Given the description of an element on the screen output the (x, y) to click on. 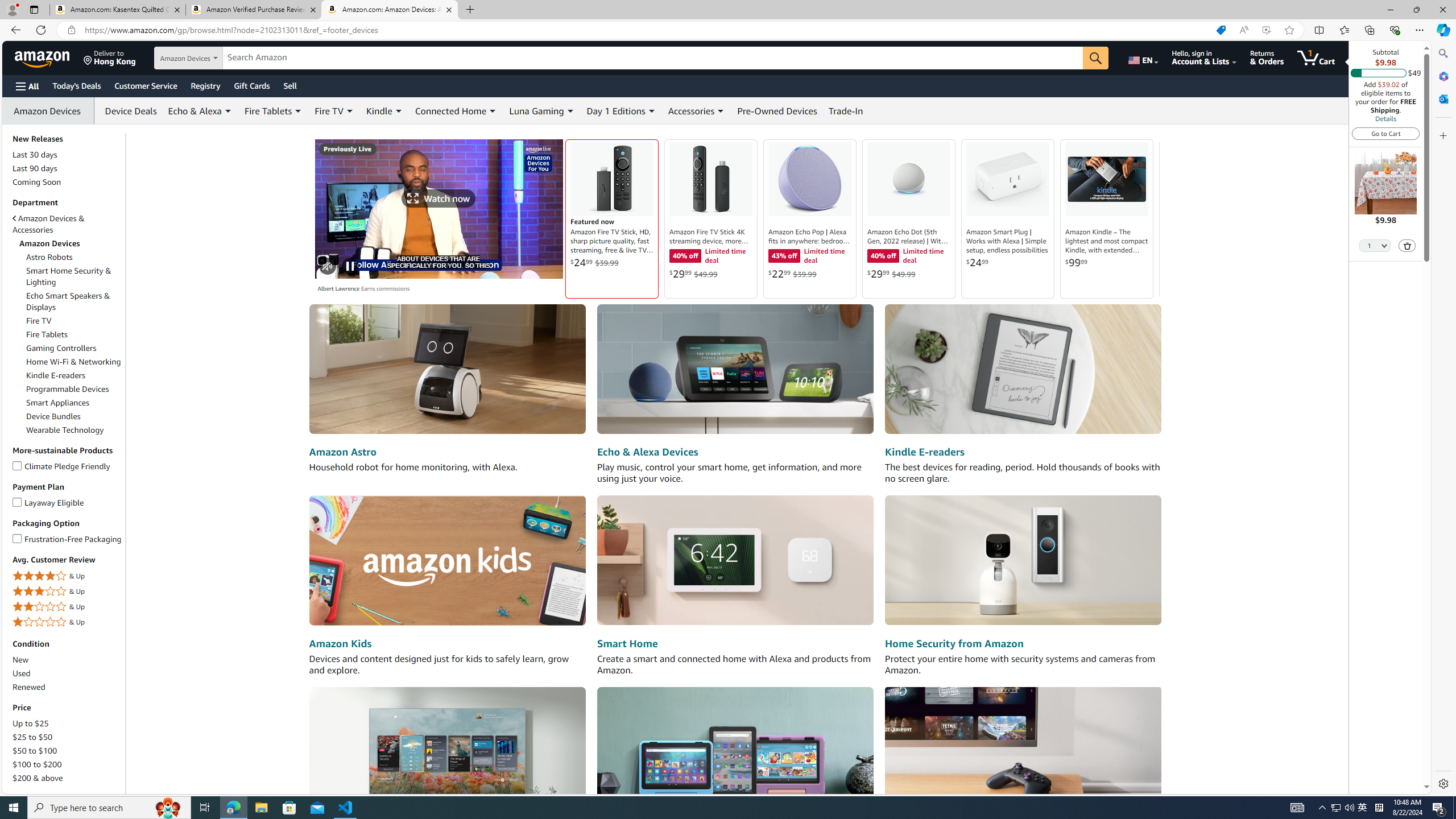
Up to $25 (31, 723)
Kindle (384, 110)
Expand Kindle (397, 111)
Home Wi-Fi & Networking (74, 361)
Choose a language for shopping. (1142, 57)
Smart Appliances (74, 402)
Smart Home (627, 643)
Smart Home Security & Lighting (69, 276)
Fire TV (39, 320)
Smart Home devices (734, 560)
Open Menu (26, 86)
4 Stars & Up& Up (67, 576)
Amazon Astro (447, 369)
$200 & above (37, 777)
